Given the description of an element on the screen output the (x, y) to click on. 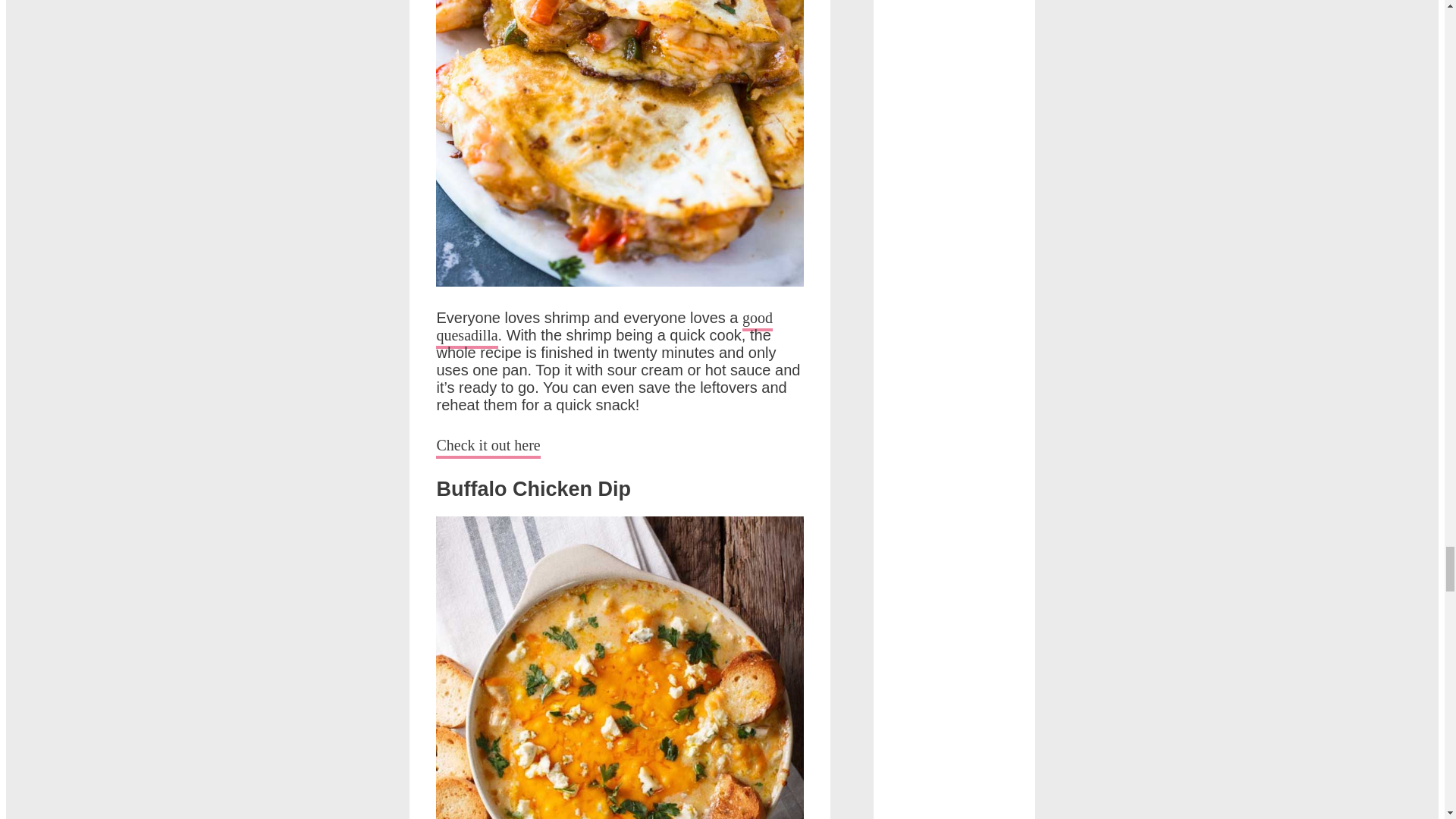
good quesadilla (604, 328)
Check it out here (487, 447)
